Given the description of an element on the screen output the (x, y) to click on. 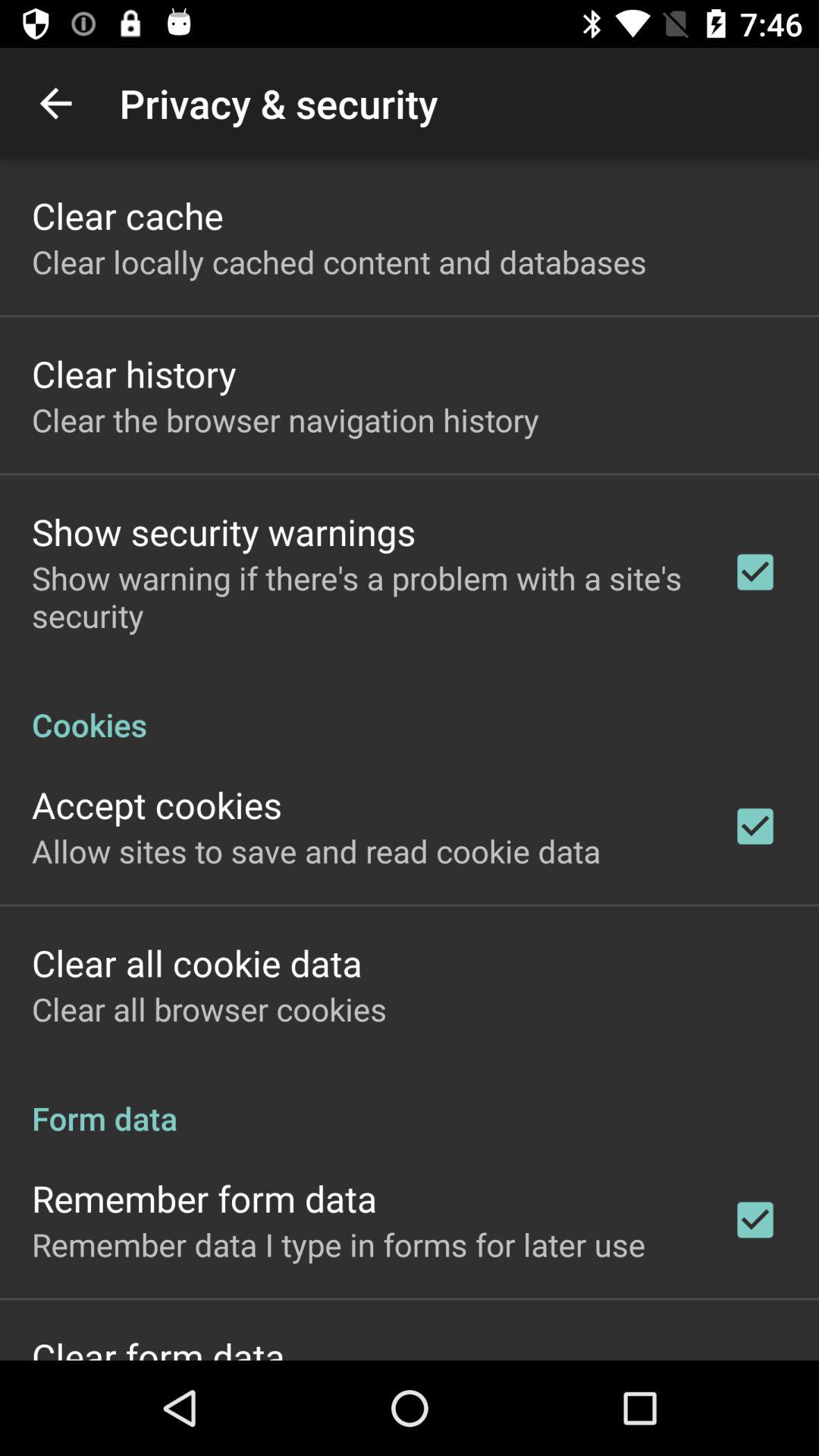
scroll until clear cache (127, 215)
